Given the description of an element on the screen output the (x, y) to click on. 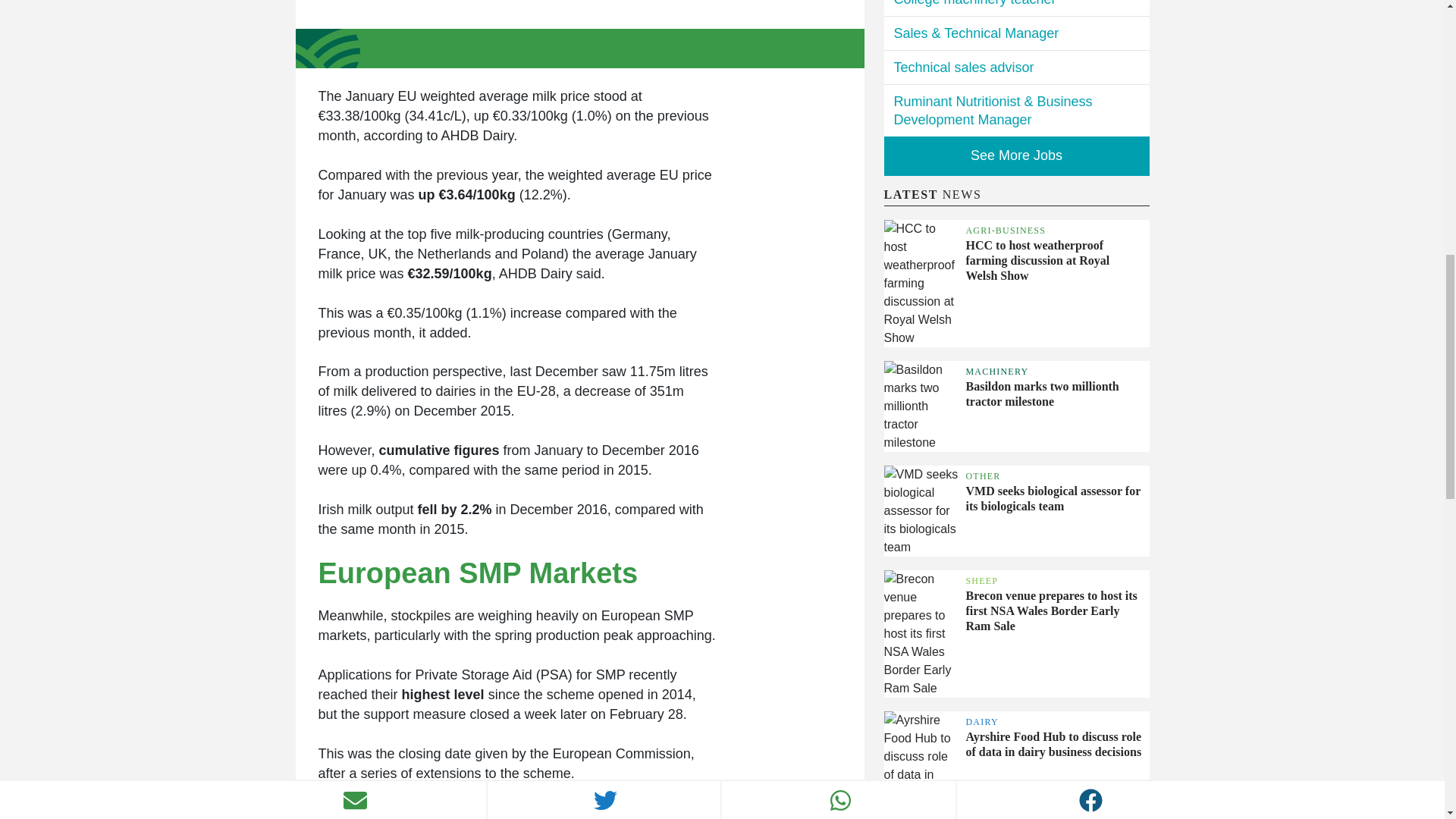
Technical sales advisor (1016, 67)
College machinery teacher (1016, 7)
